Given the description of an element on the screen output the (x, y) to click on. 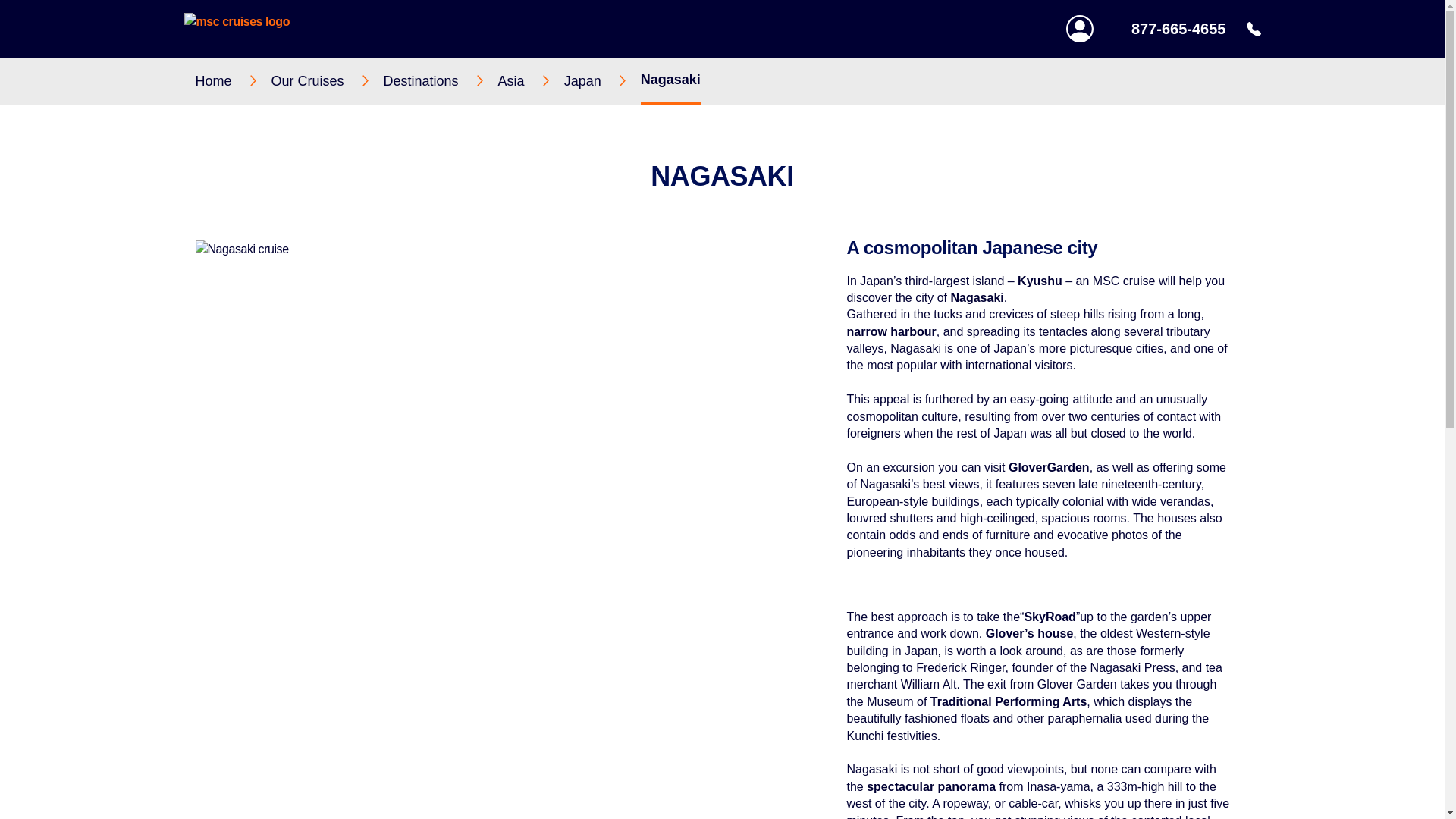
Home (232, 80)
Japan (602, 80)
Nagasaki (670, 79)
877-665-4655 (1195, 28)
msc cruises logo (236, 28)
Our Cruises (327, 80)
Nagasaki cruise (511, 249)
Destinations (440, 80)
Nagasaki cruise (511, 248)
Asia (530, 80)
